Given the description of an element on the screen output the (x, y) to click on. 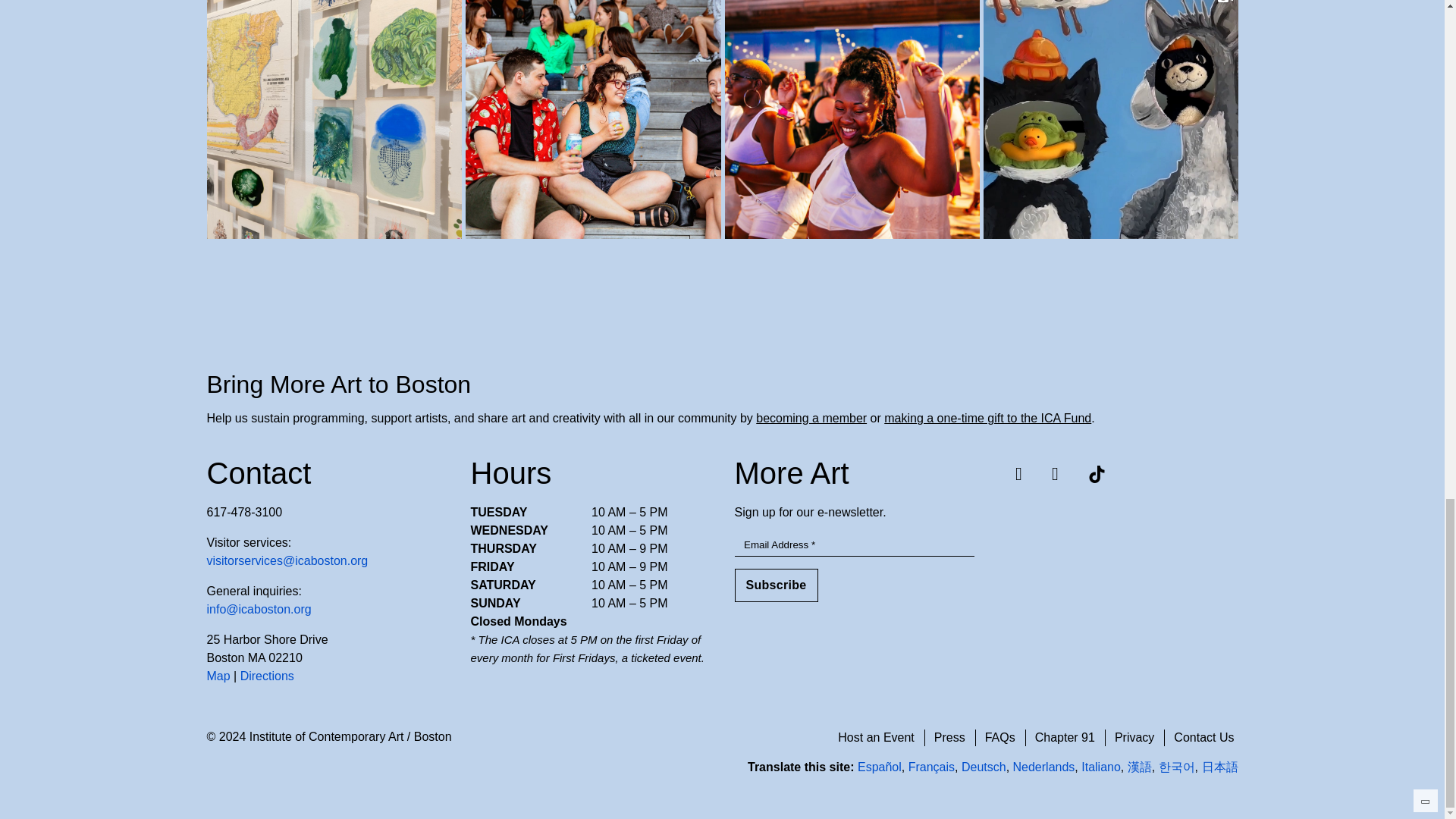
making a one-time gift to the ICA Fund (986, 418)
becoming a member (810, 418)
Subscribe (774, 584)
